Given the description of an element on the screen output the (x, y) to click on. 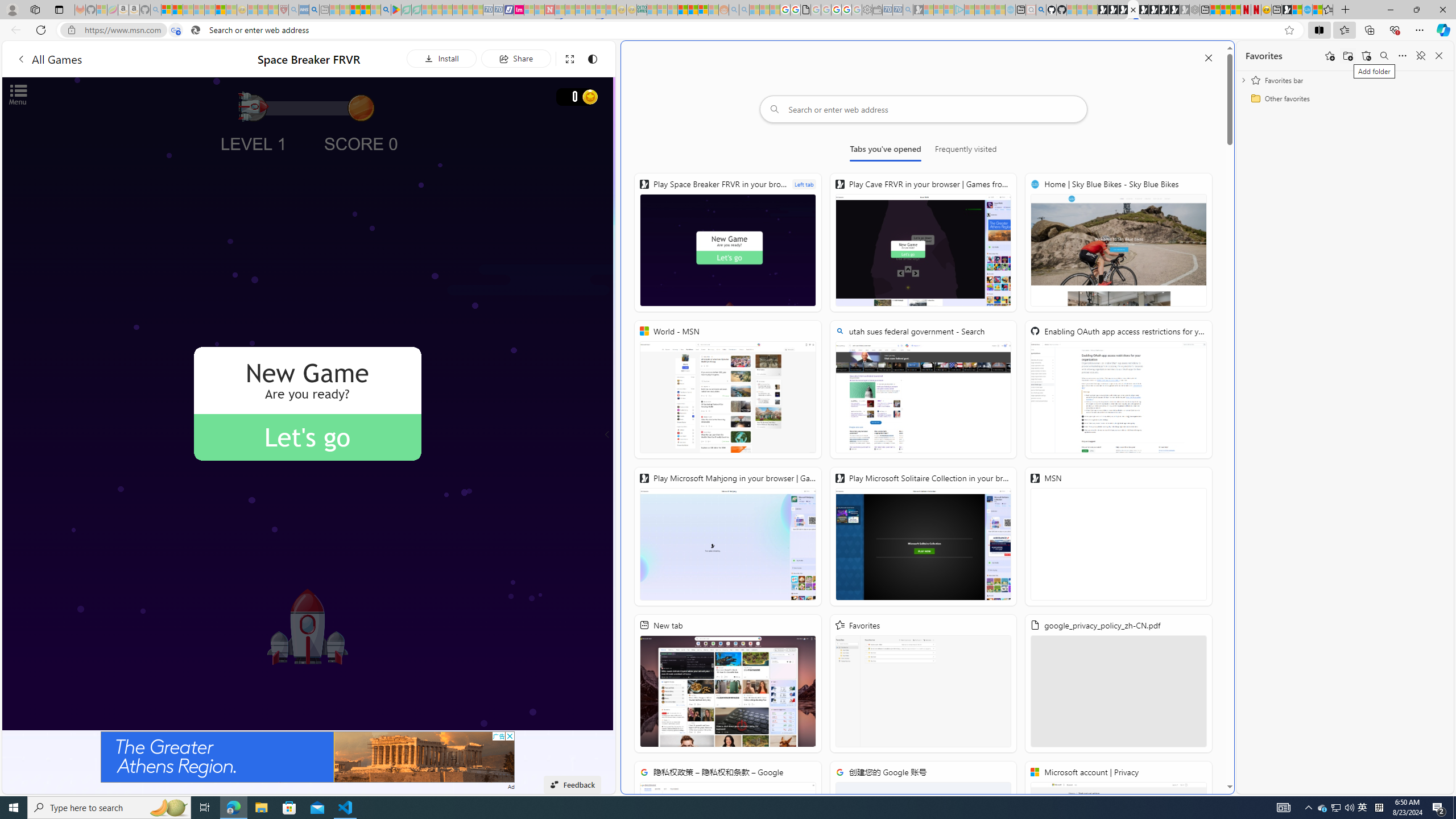
utah sues federal government - Search (314, 9)
